Given the description of an element on the screen output the (x, y) to click on. 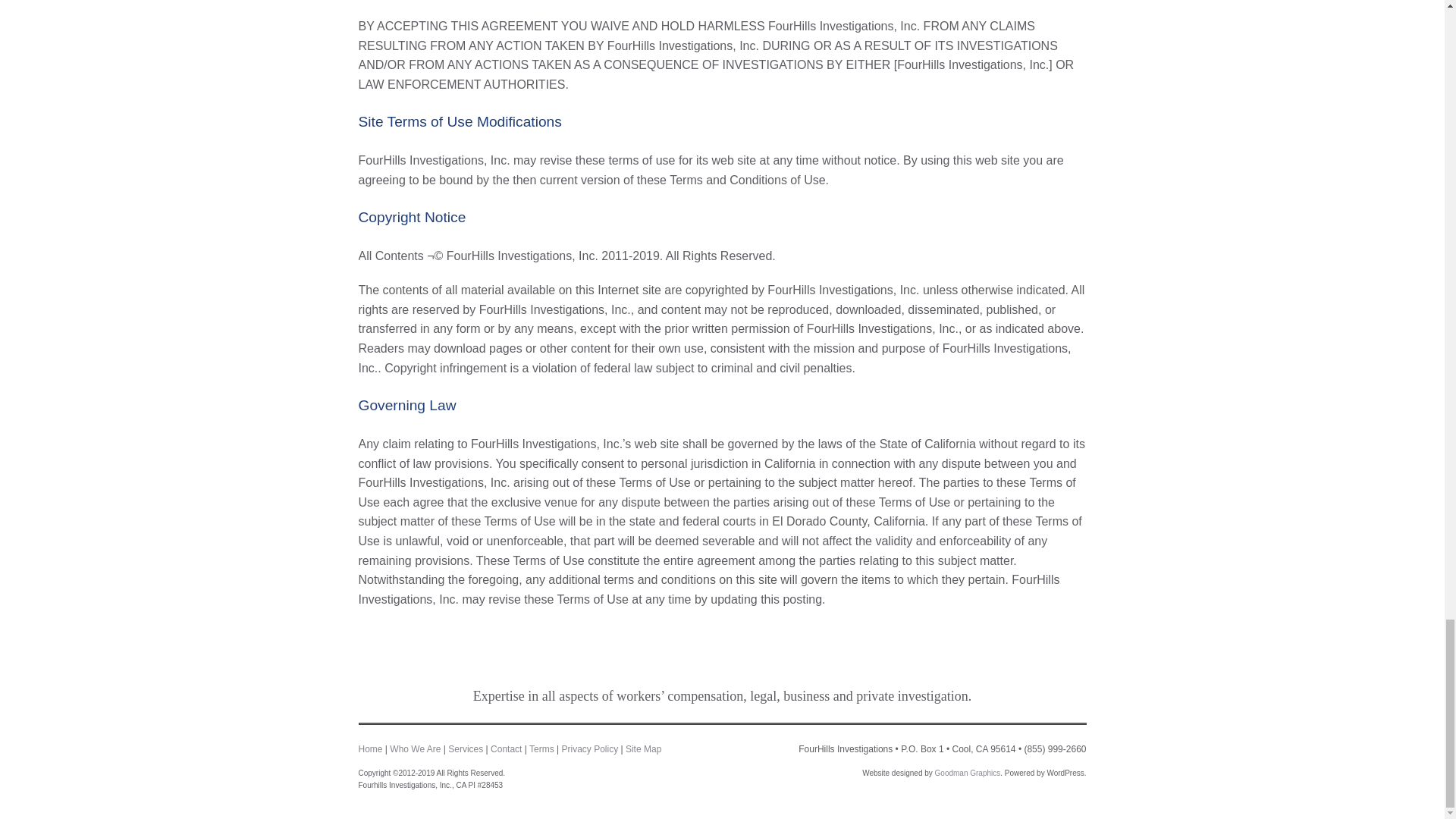
Contact (505, 748)
Services (465, 748)
Site Map (643, 748)
Who We Are (415, 748)
Site Map (643, 748)
Home (369, 748)
Goodman Graphics (967, 773)
Terms of Use (541, 748)
Who We Are (415, 748)
Services (465, 748)
Contact (505, 748)
Privacy Policy (588, 748)
Home (369, 748)
Terms (541, 748)
Privacy Policy (588, 748)
